Given the description of an element on the screen output the (x, y) to click on. 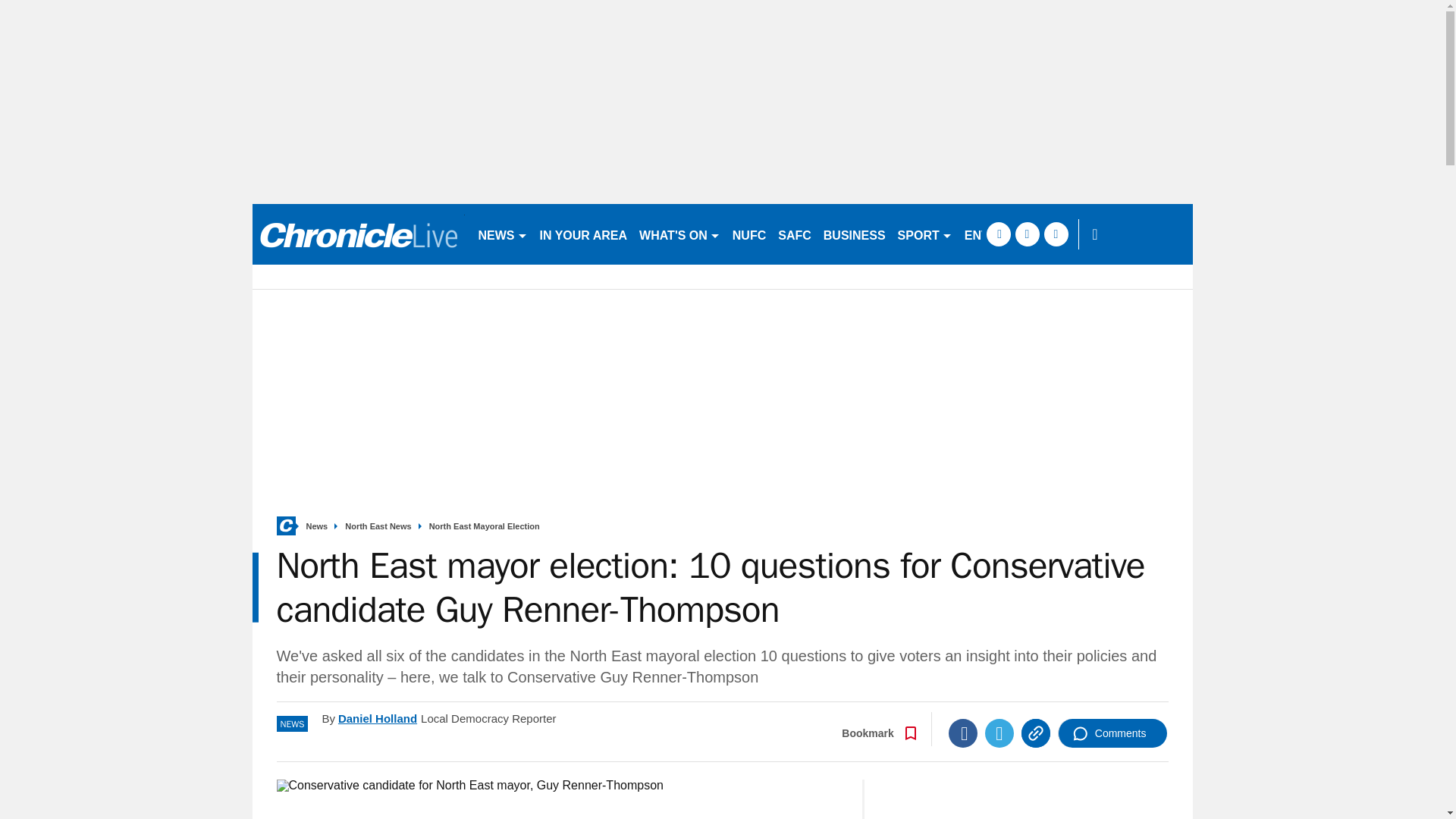
BUSINESS (853, 233)
SPORT (924, 233)
IN YOUR AREA (583, 233)
Comments (1112, 733)
twitter (1026, 233)
Facebook (962, 733)
instagram (1055, 233)
nechronicle (357, 233)
Twitter (999, 733)
facebook (997, 233)
NEWS (501, 233)
WHAT'S ON (679, 233)
